Given the description of an element on the screen output the (x, y) to click on. 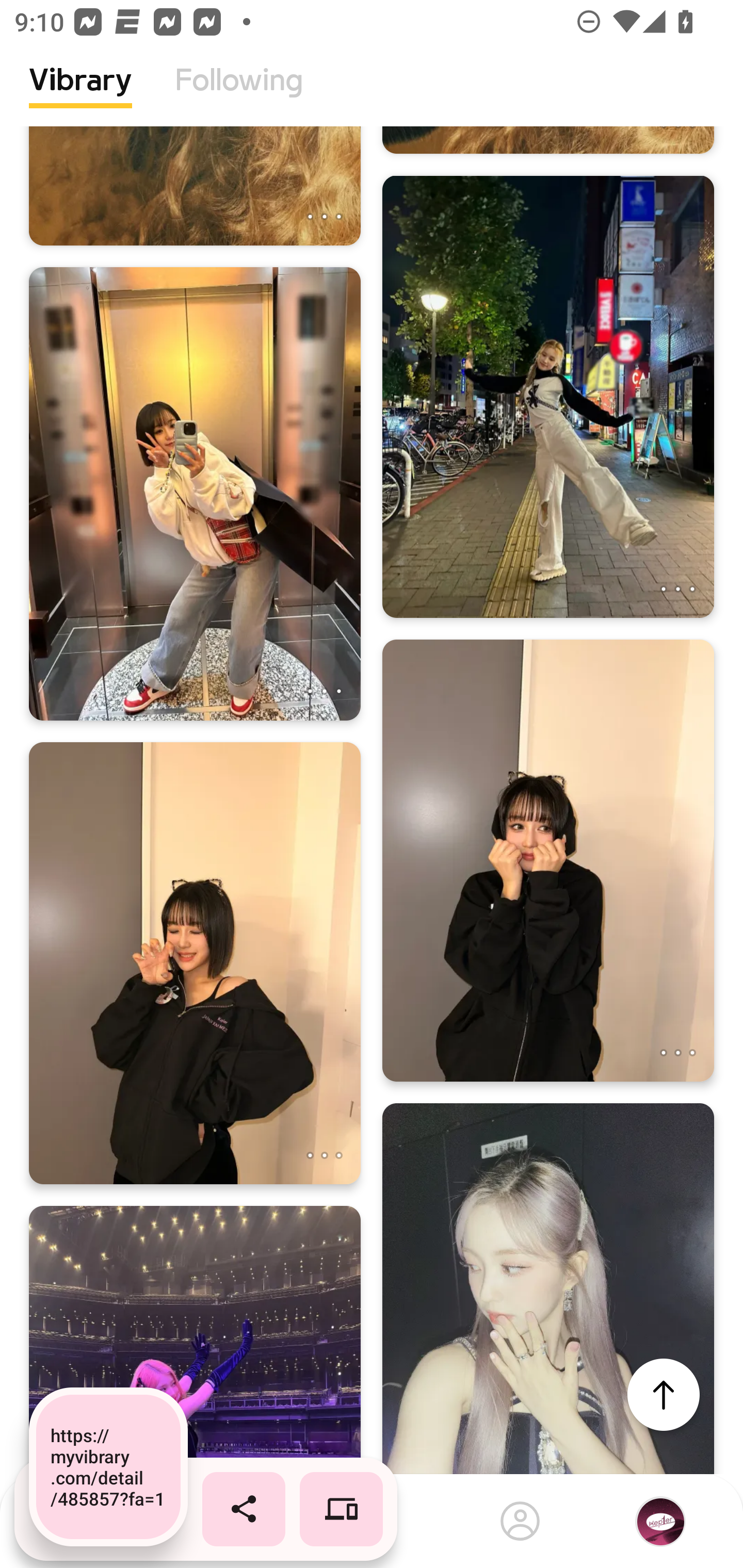
Vibrary (80, 95)
Following (239, 95)
